Given the description of an element on the screen output the (x, y) to click on. 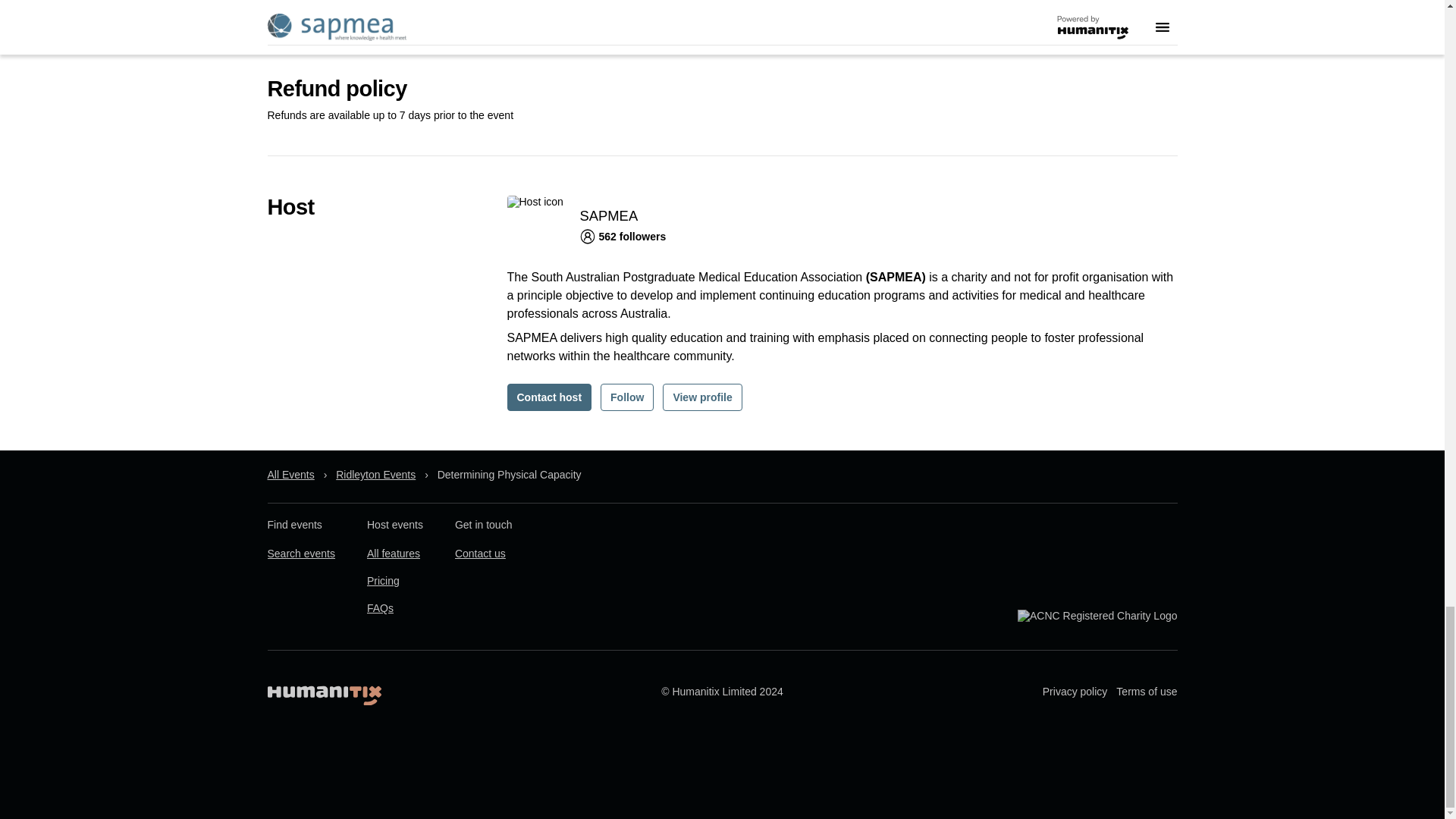
Search events (300, 554)
Contact host (548, 397)
Follow (626, 397)
Ridleyton Events (375, 474)
Contact us (479, 554)
Pricing (382, 581)
All features (393, 554)
FAQs (379, 608)
All Events (290, 474)
Privacy policy (1075, 691)
Determining Physical Capacity (509, 474)
View profile (701, 397)
